Given the description of an element on the screen output the (x, y) to click on. 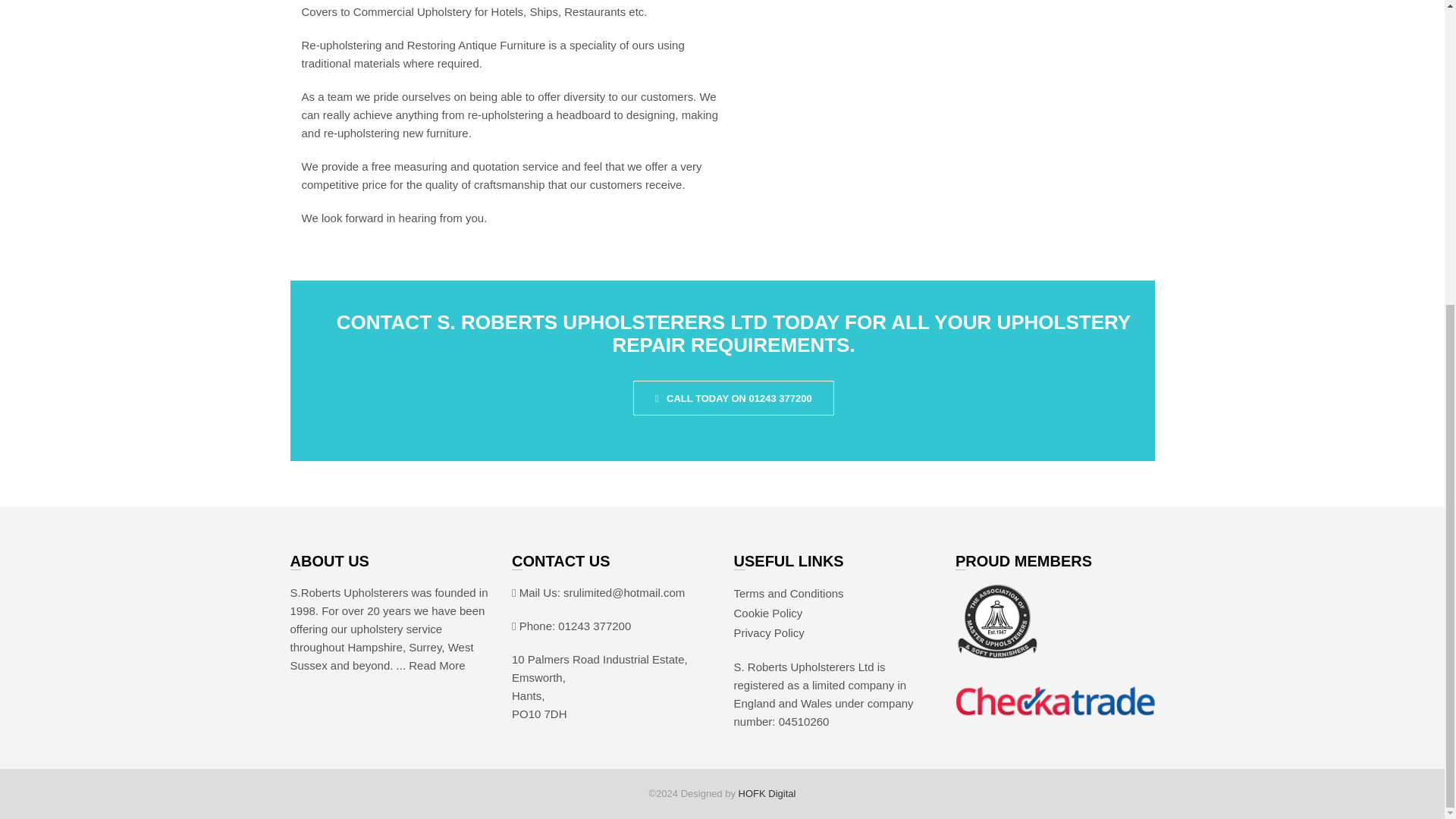
Cookie Policy (768, 612)
... Read More (430, 665)
HOFK Digital (767, 793)
Privacy Policy (769, 632)
CALL TODAY ON 01243 377200 (733, 397)
Terms and Conditions (788, 593)
